Given the description of an element on the screen output the (x, y) to click on. 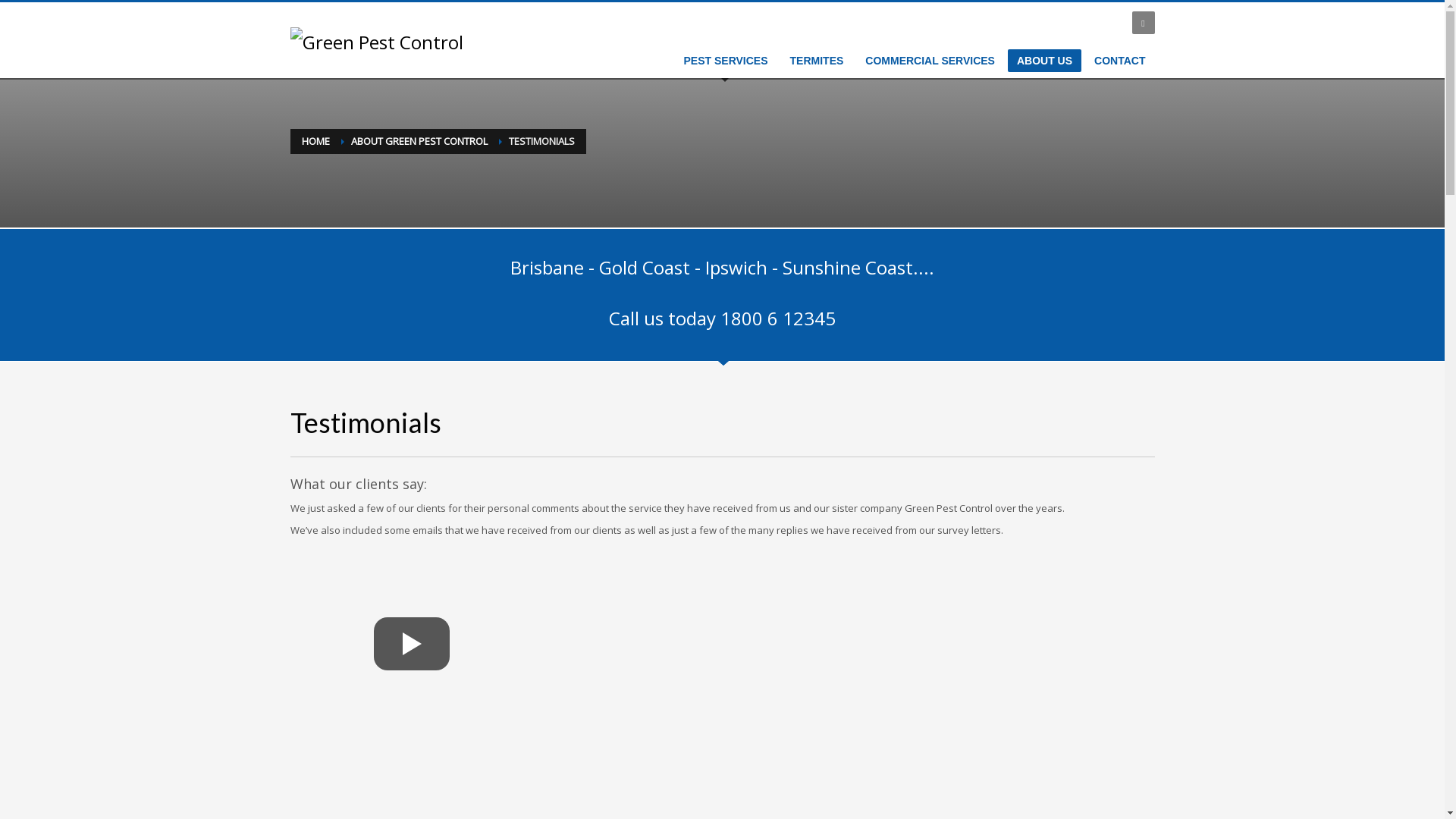
Pest Control Solutions Element type: hover (375, 42)
TERMITES Element type: text (817, 60)
CONTACT Element type: text (1119, 60)
HOME Element type: text (315, 140)
COMMERCIAL SERVICES Element type: text (930, 60)
ABOUT GREEN PEST CONTROL Element type: text (418, 140)
ABOUT US Element type: text (1044, 60)
LOGIN Element type: text (1103, 22)
PEST SERVICES Element type: text (725, 60)
